Given the description of an element on the screen output the (x, y) to click on. 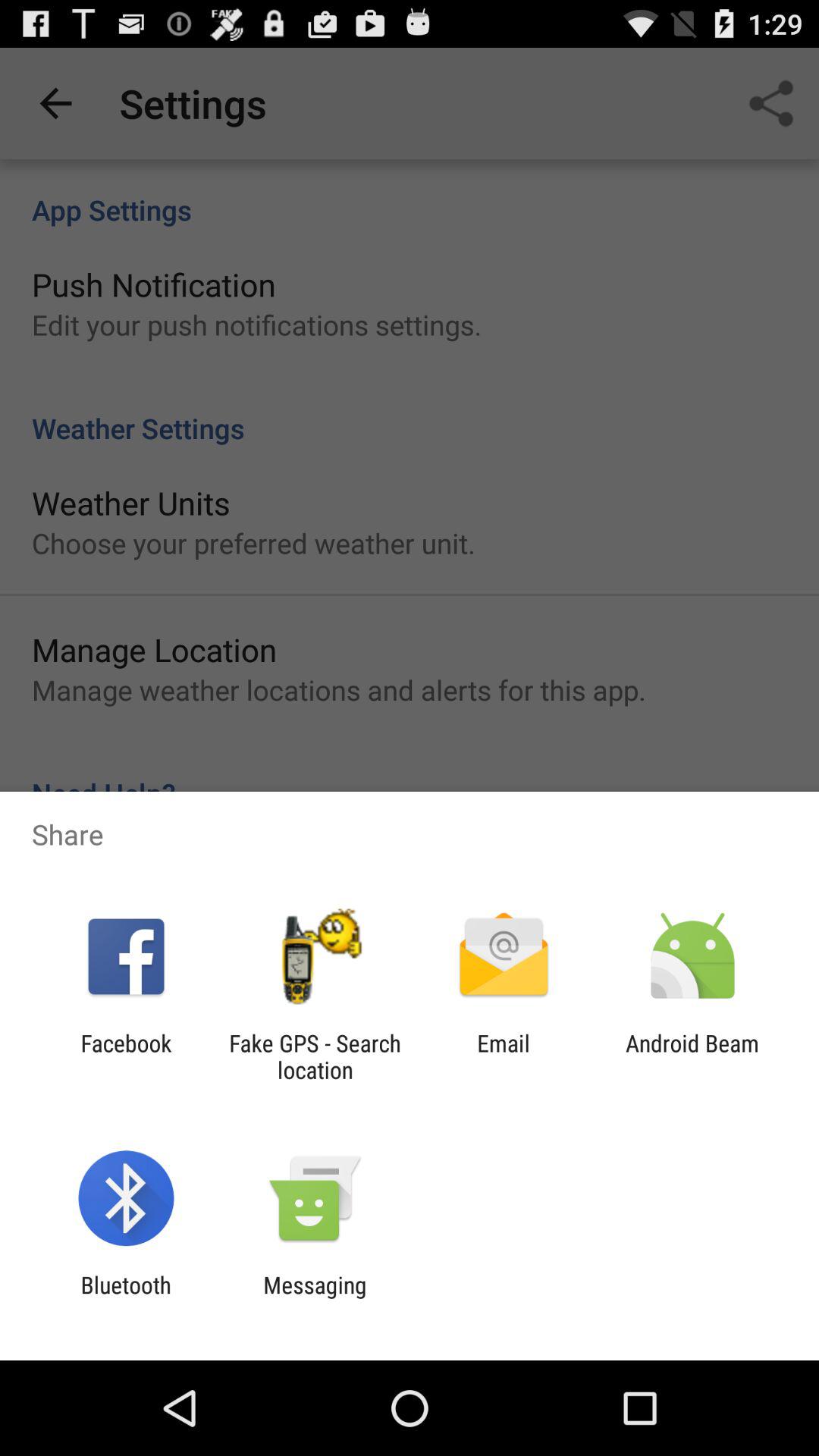
tap email app (503, 1056)
